Given the description of an element on the screen output the (x, y) to click on. 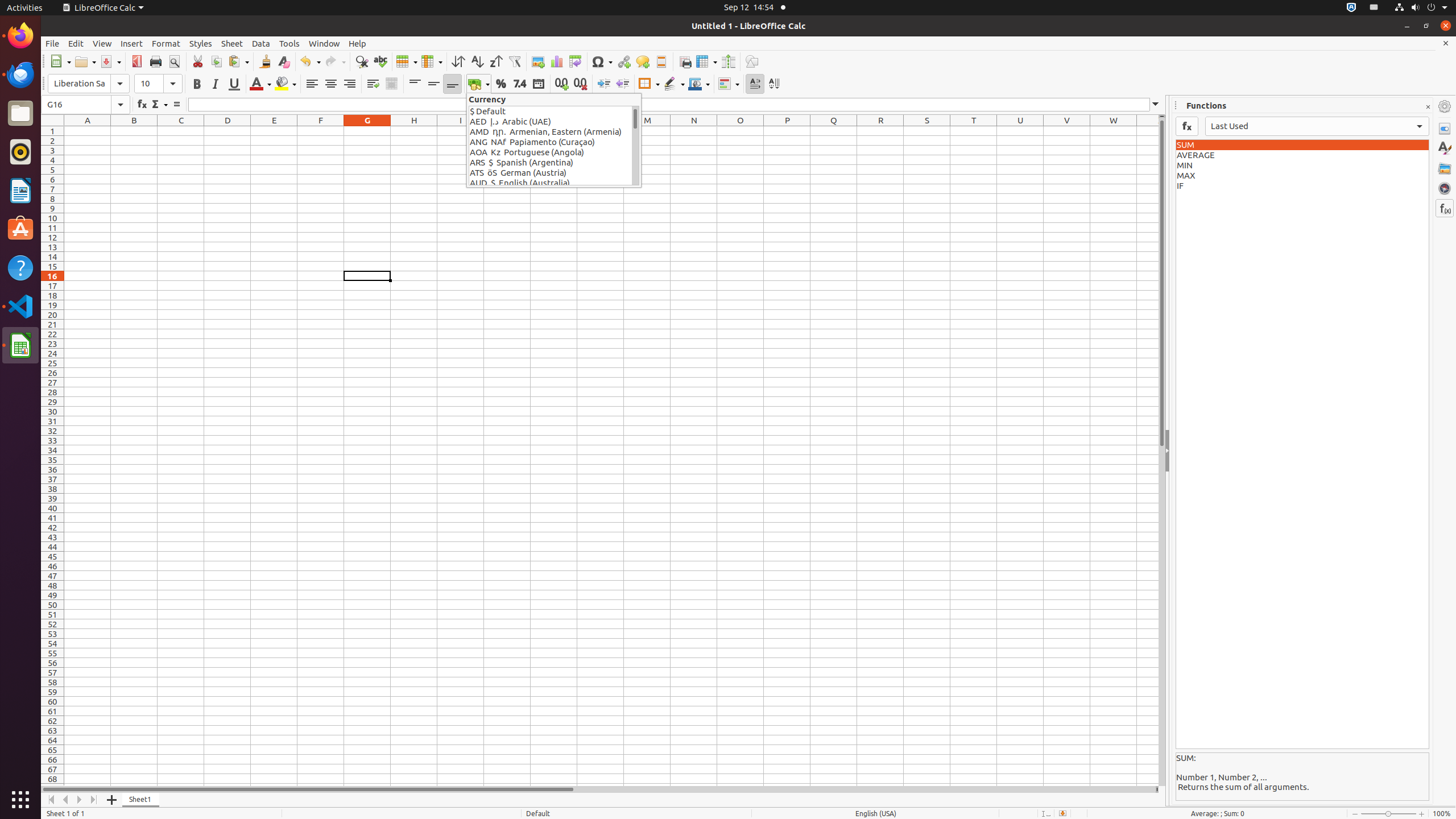
Formula Element type: push-button (176, 104)
Font Color Element type: push-button (260, 83)
SUM Element type: list-item (1302, 144)
Gallery Element type: radio-button (1444, 168)
Comment Element type: push-button (642, 61)
